Given the description of an element on the screen output the (x, y) to click on. 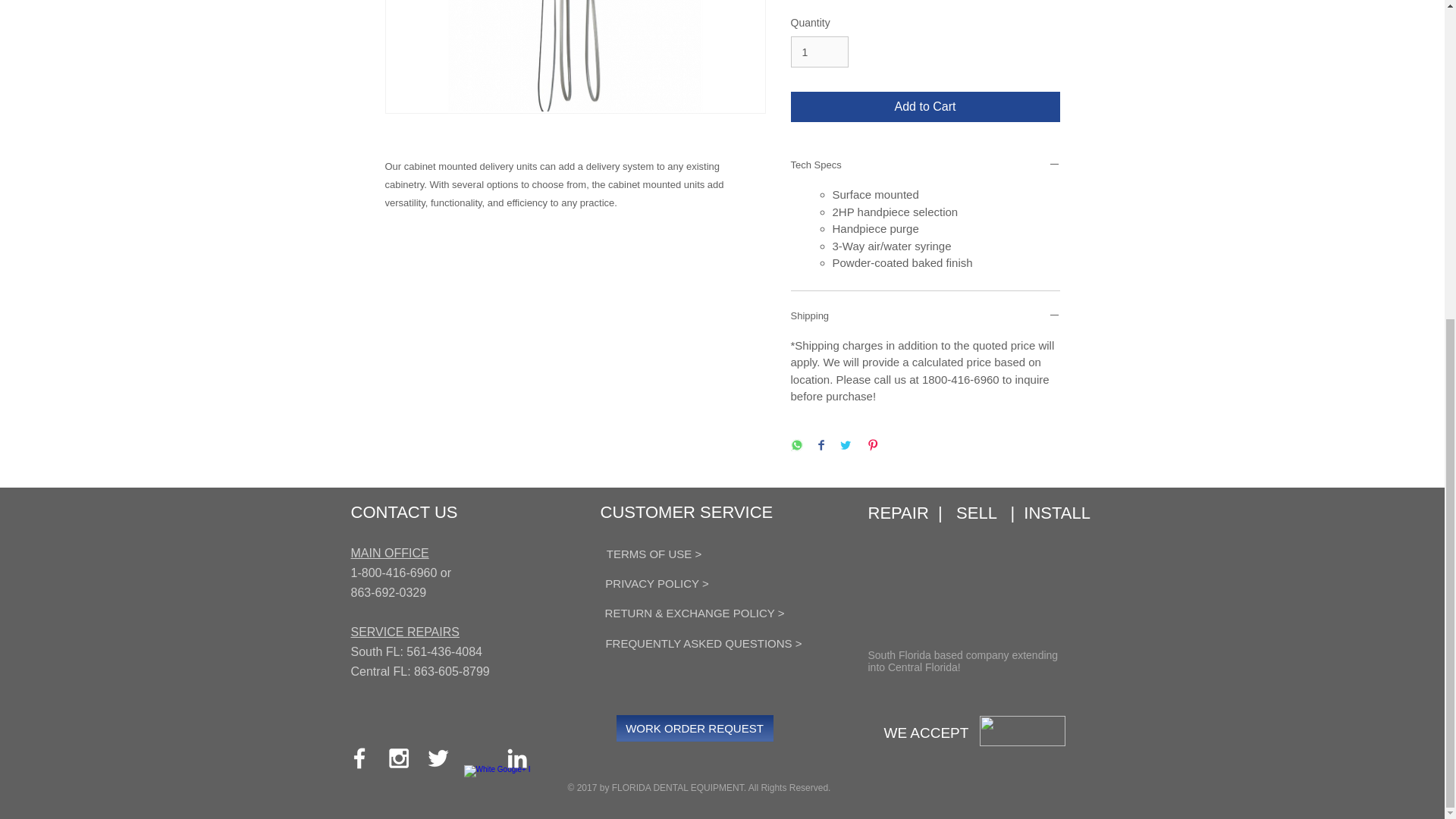
SELL   (983, 512)
863-605-8799 (451, 671)
561-436-4084 (443, 651)
Tech Specs (924, 165)
WORK ORDER REQUEST (694, 728)
1-800-416-6960 (394, 572)
863-692-0329 (388, 590)
1 (818, 51)
Shipping (924, 316)
Add to Cart (924, 106)
